Given the description of an element on the screen output the (x, y) to click on. 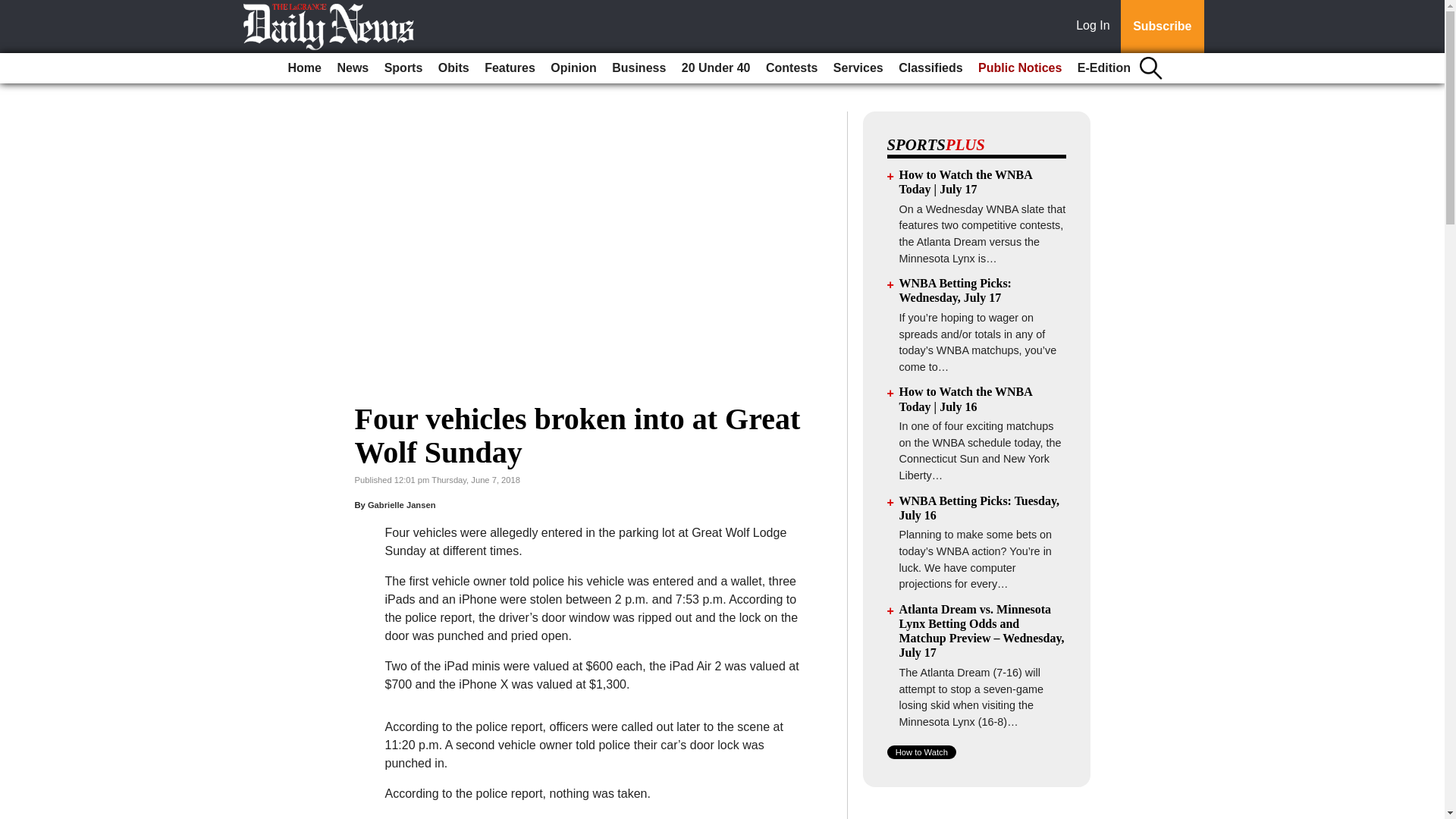
Gabrielle Jansen (401, 504)
E-Edition (1104, 68)
Log In (1095, 26)
Services (858, 68)
Sports (403, 68)
Contests (792, 68)
Public Notices (1019, 68)
How to Watch (921, 752)
Classifieds (930, 68)
Obits (454, 68)
Business (638, 68)
Opinion (573, 68)
Subscribe (1162, 26)
Features (510, 68)
Home (304, 68)
